Given the description of an element on the screen output the (x, y) to click on. 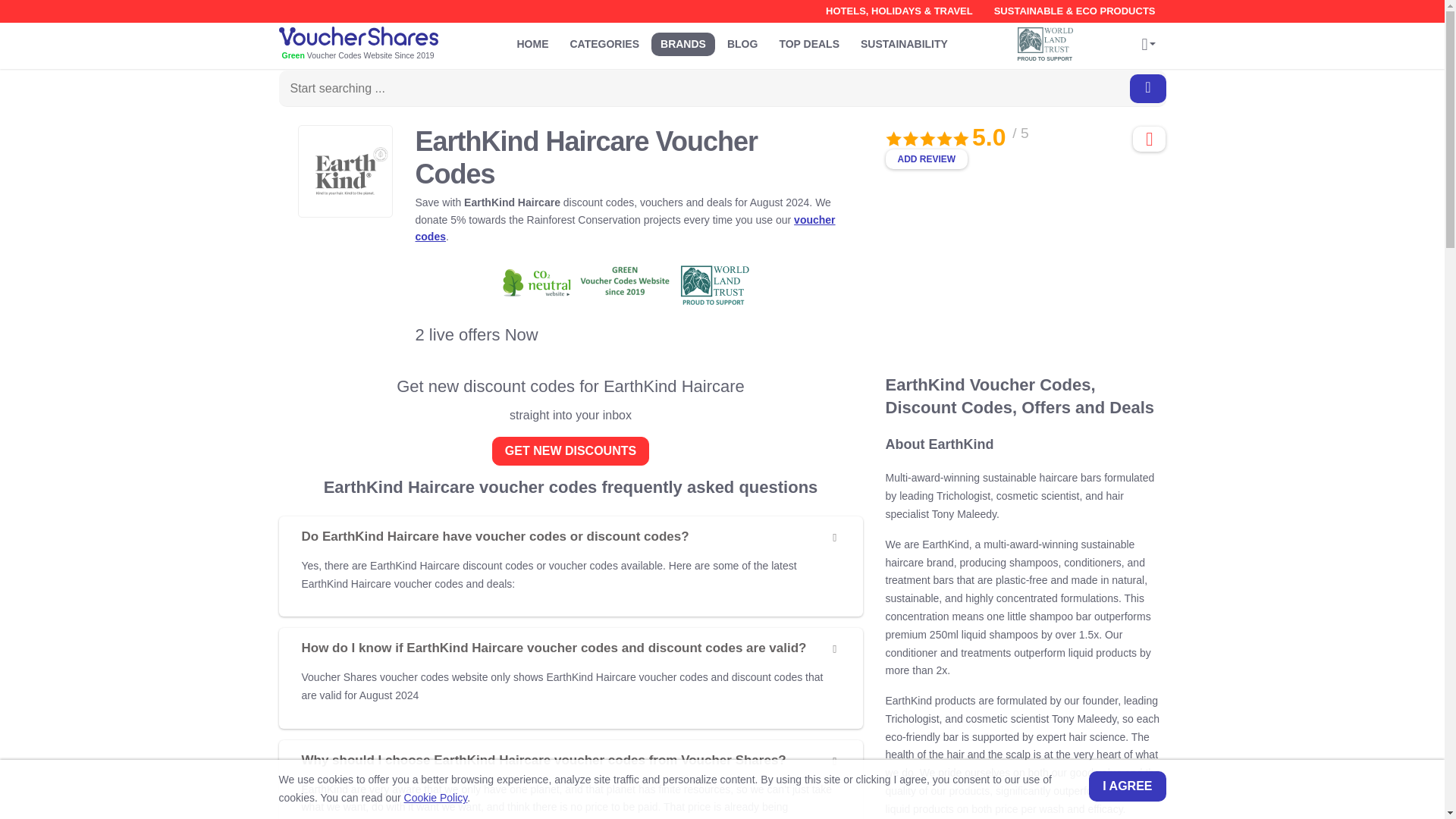
EarthKind Haircare (344, 170)
vouchershares.co.uk (381, 44)
Categories (604, 44)
World Land Trust (1048, 44)
Blog (742, 44)
BLOG (742, 44)
GET NEW DISCOUNTS (570, 451)
TOP DEALS (809, 44)
PROUD TO SUPPORT (1048, 44)
Home (532, 44)
CATEGORIES (604, 44)
World Land Trust (1045, 40)
ADD REVIEW (926, 158)
Personal Area (1148, 45)
voucher codes (624, 227)
